Given the description of an element on the screen output the (x, y) to click on. 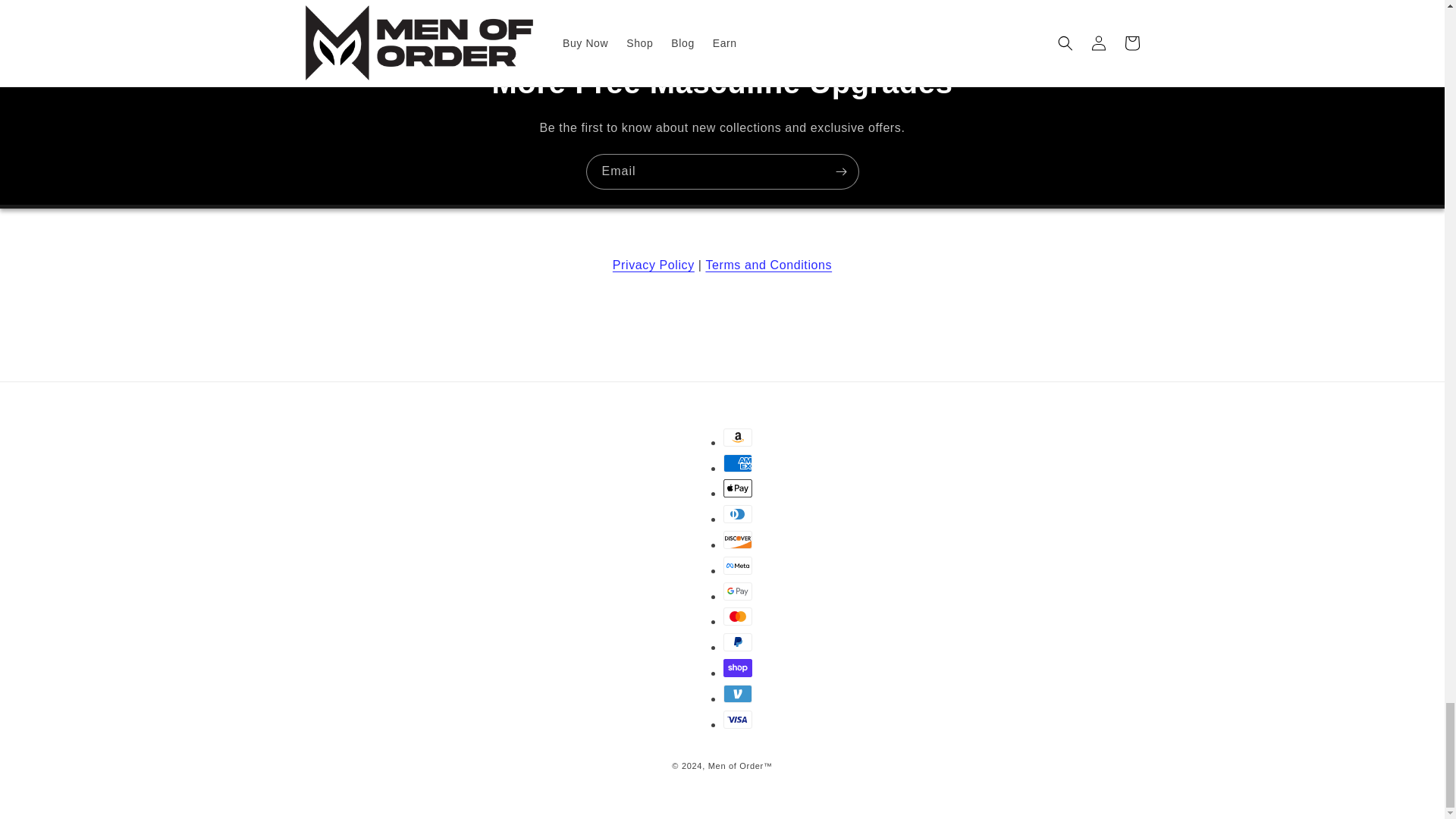
Apple Pay (737, 488)
Terms and Conditions (767, 264)
American Express (737, 463)
Diners Club (737, 514)
Privacy Policy (653, 264)
Amazon (737, 437)
